Given the description of an element on the screen output the (x, y) to click on. 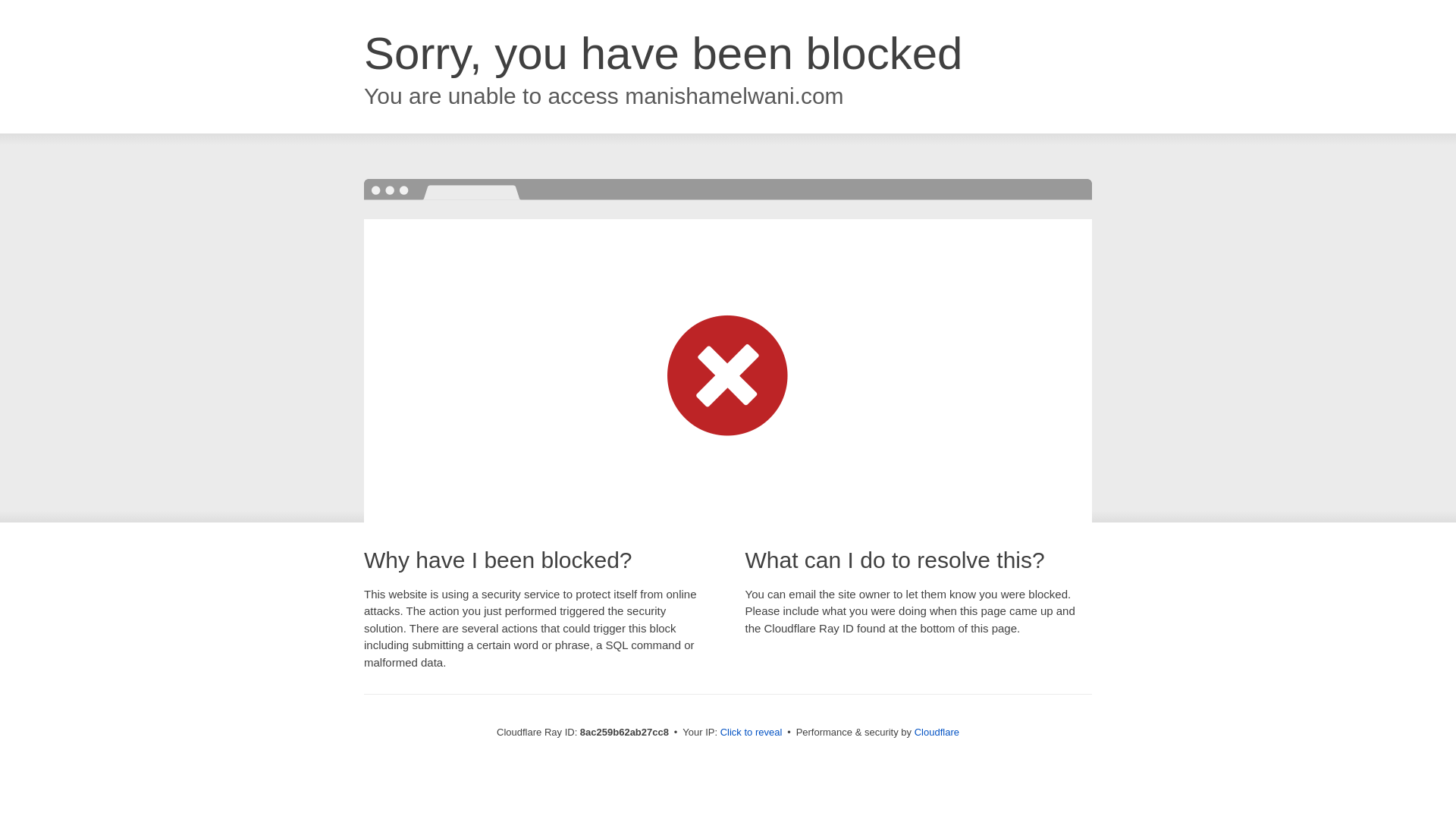
Click to reveal (751, 732)
Cloudflare (936, 731)
